Given the description of an element on the screen output the (x, y) to click on. 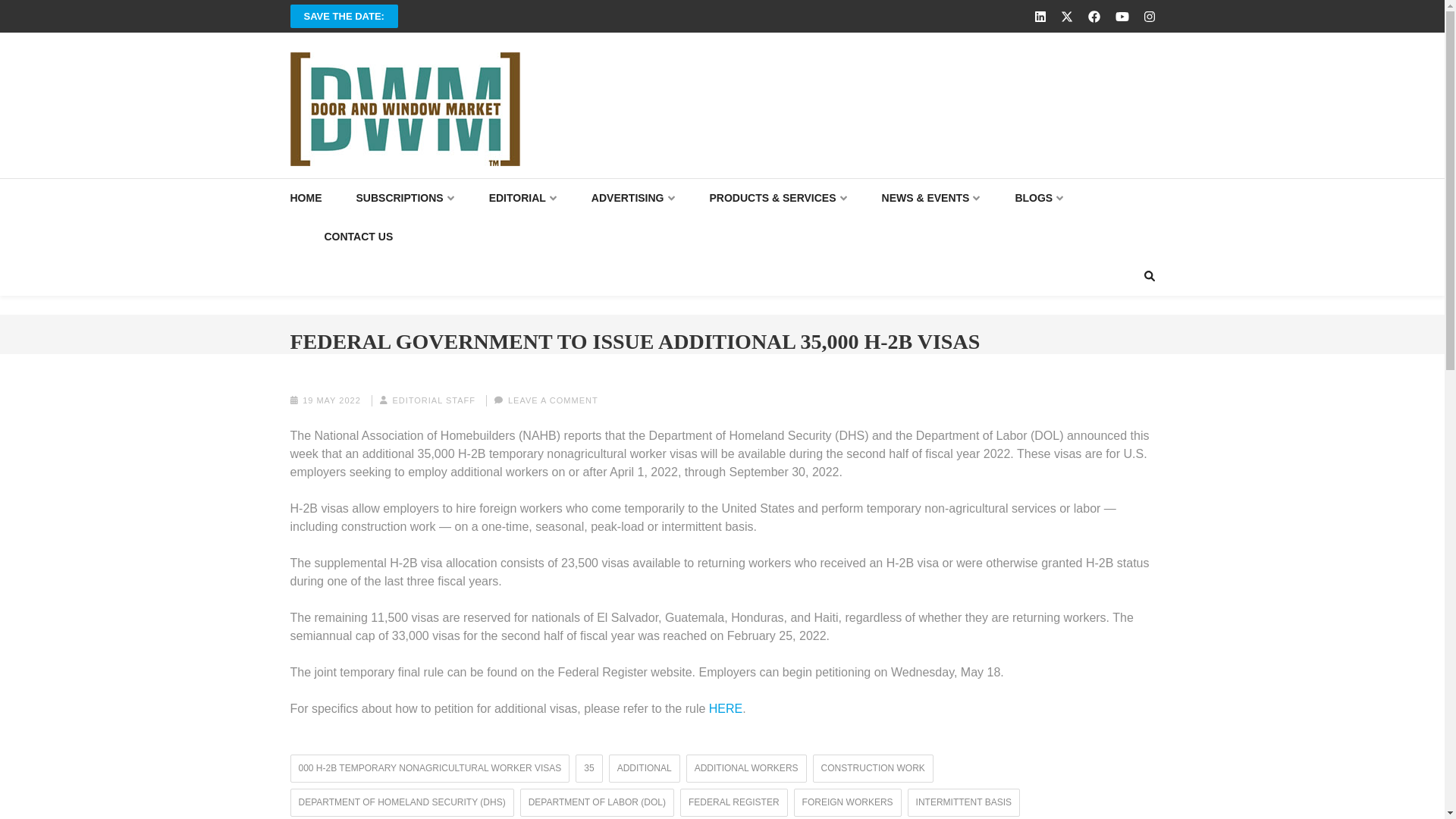
SAVE THE DATE: (343, 15)
SUBSCRIPTIONS (405, 198)
ADVERTISING (633, 198)
BLOGS (1039, 198)
EDITORIAL (523, 198)
DOOR AND WINDOW MARKET MAGAZINE (566, 180)
